Given the description of an element on the screen output the (x, y) to click on. 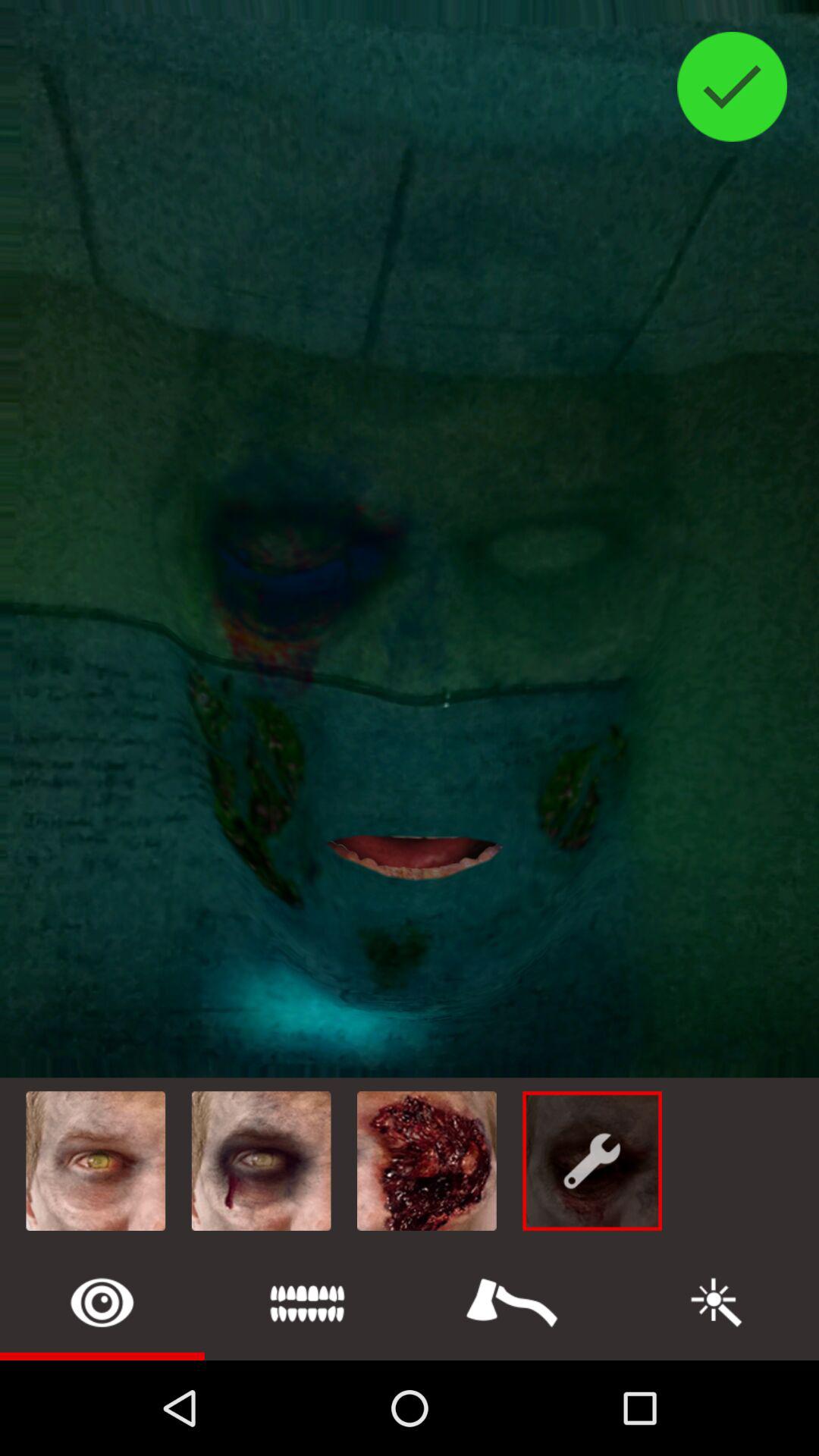
edit tool (716, 1302)
